Given the description of an element on the screen output the (x, y) to click on. 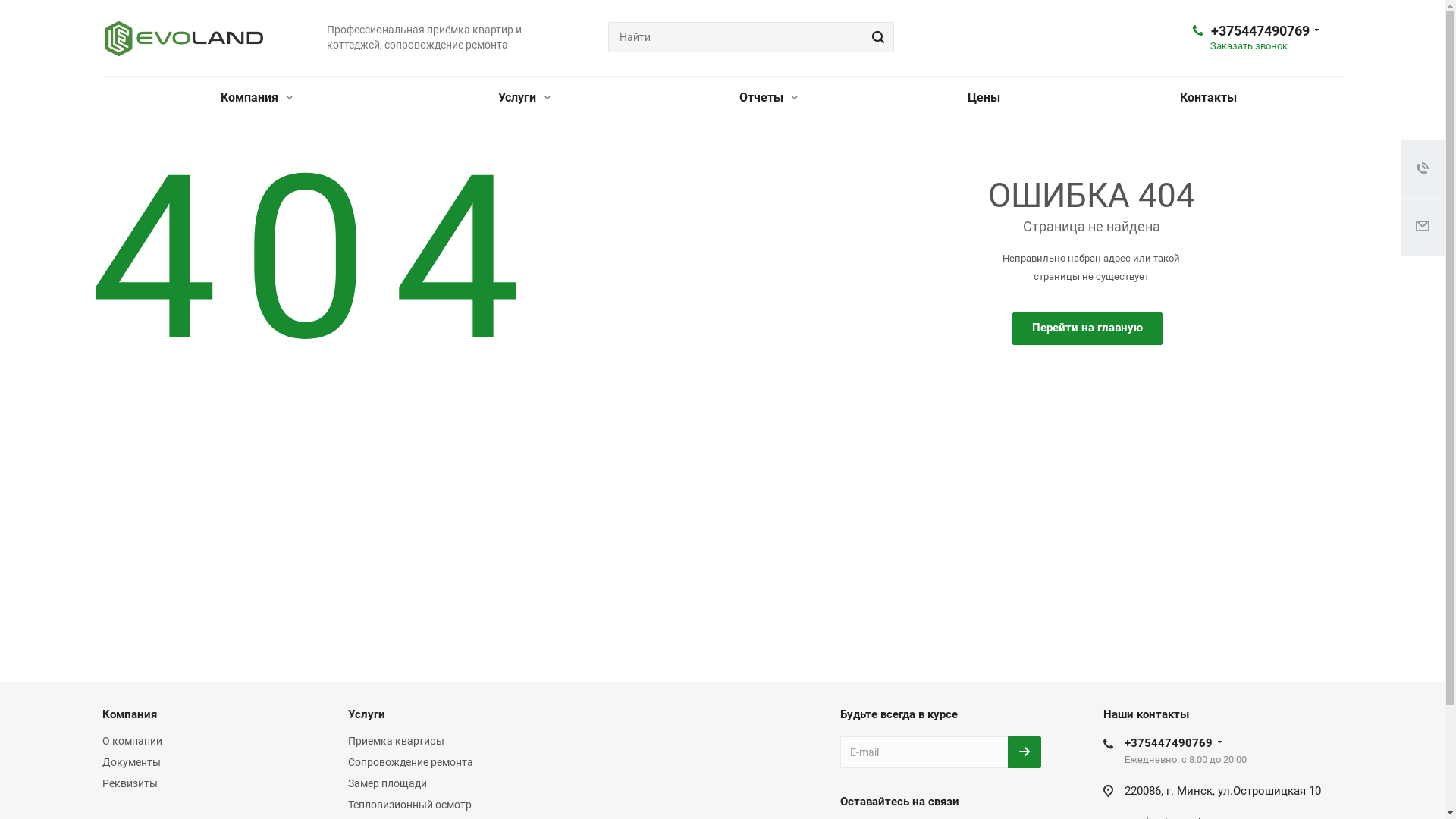
+375447490769 Element type: text (1259, 30)
+375447490769 Element type: text (1168, 742)
EvoLand Element type: hover (182, 38)
